Given the description of an element on the screen output the (x, y) to click on. 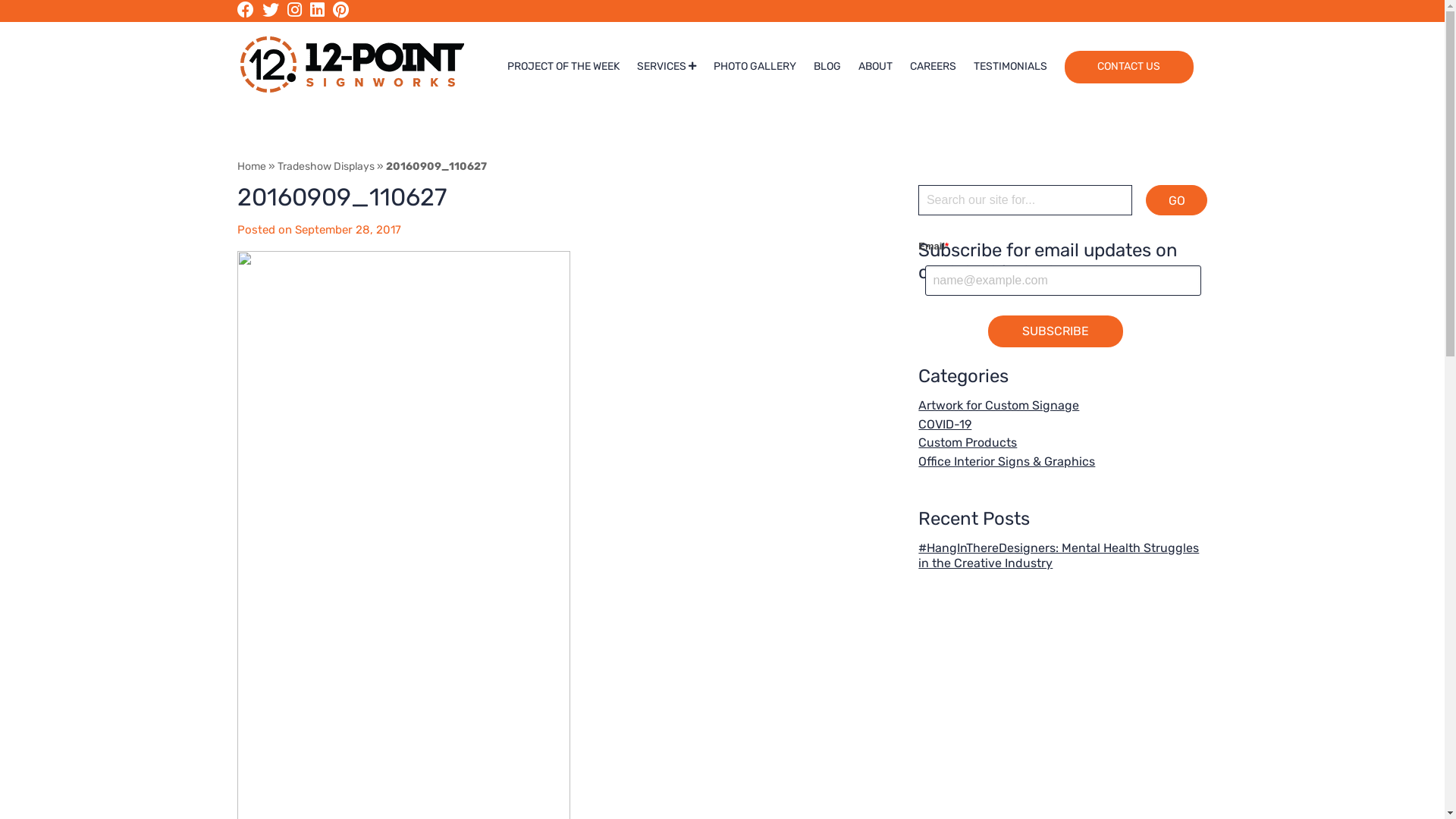
Home Element type: text (250, 166)
Go Element type: text (1176, 200)
PROJECT OF THE WEEK Element type: text (563, 66)
BLOG Element type: text (826, 66)
SERVICES Element type: text (666, 66)
CAREERS Element type: text (933, 66)
Subscribe Element type: text (1055, 331)
Custom Products Element type: text (967, 442)
TESTIMONIALS Element type: text (1010, 66)
Office Interior Signs & Graphics Element type: text (1006, 461)
COVID-19 Element type: text (944, 424)
CONTACT US Element type: text (1128, 66)
PHOTO GALLERY Element type: text (754, 66)
ABOUT Element type: text (875, 66)
Artwork for Custom Signage Element type: text (998, 405)
Tradeshow Displays Element type: text (325, 166)
